Given the description of an element on the screen output the (x, y) to click on. 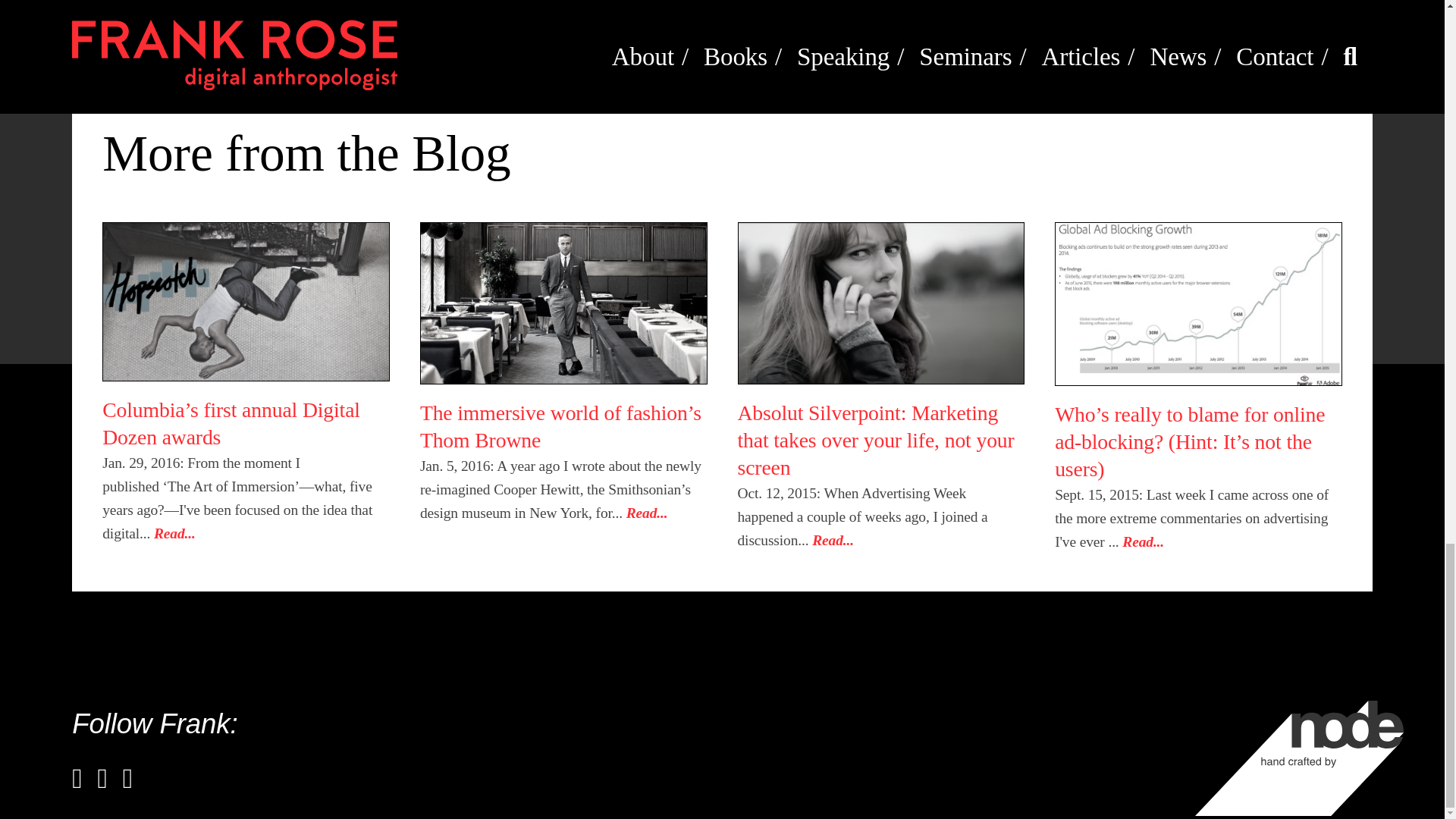
Read... (647, 512)
Read... (174, 533)
